Given the description of an element on the screen output the (x, y) to click on. 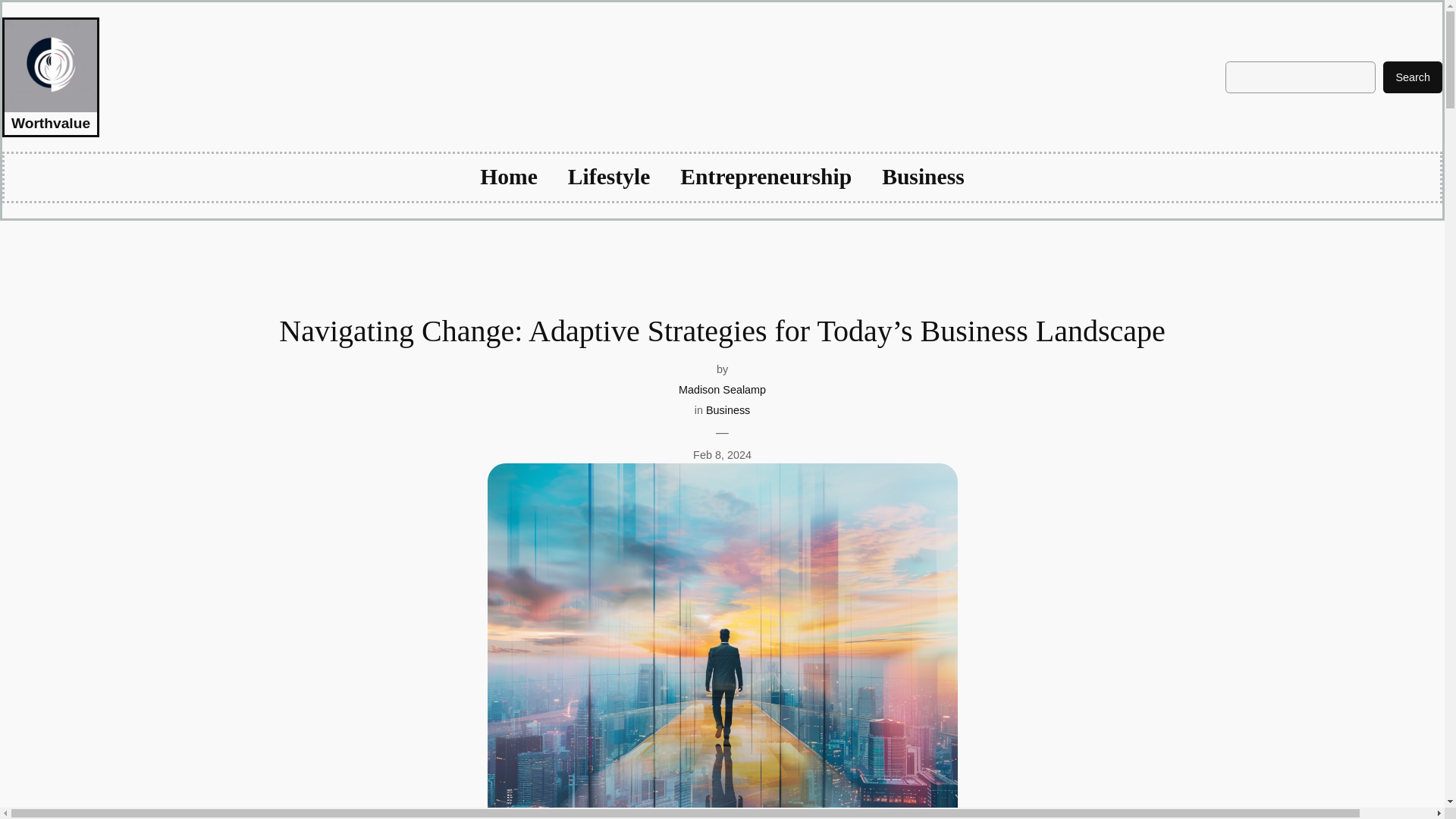
Feb 8, 2024 (722, 454)
Madison Sealamp (721, 389)
Home (508, 177)
Lifestyle (608, 177)
Search (1412, 77)
Entrepreneurship (765, 177)
Business (922, 177)
Business (727, 410)
